Given the description of an element on the screen output the (x, y) to click on. 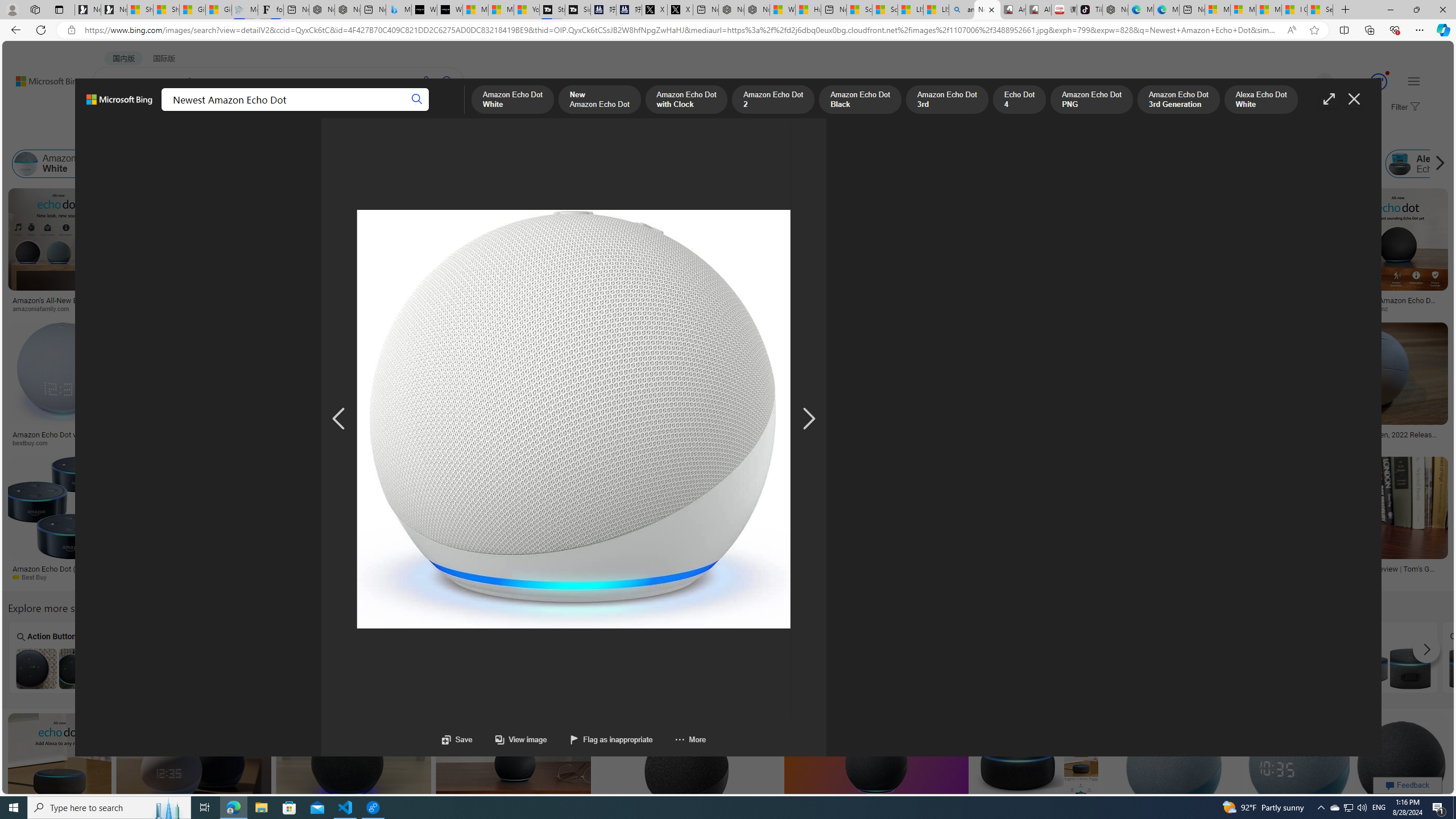
What Inside a Amazon Echo Dot What Inside (262, 656)
AutomationID: navl (338, 418)
TikTok (1089, 9)
B&H Photo Video (725, 442)
Flag as inappropriate (610, 739)
Amazon Echo Dot Icon Icon (877, 656)
Date (336, 135)
Layout (253, 135)
